Given the description of an element on the screen output the (x, y) to click on. 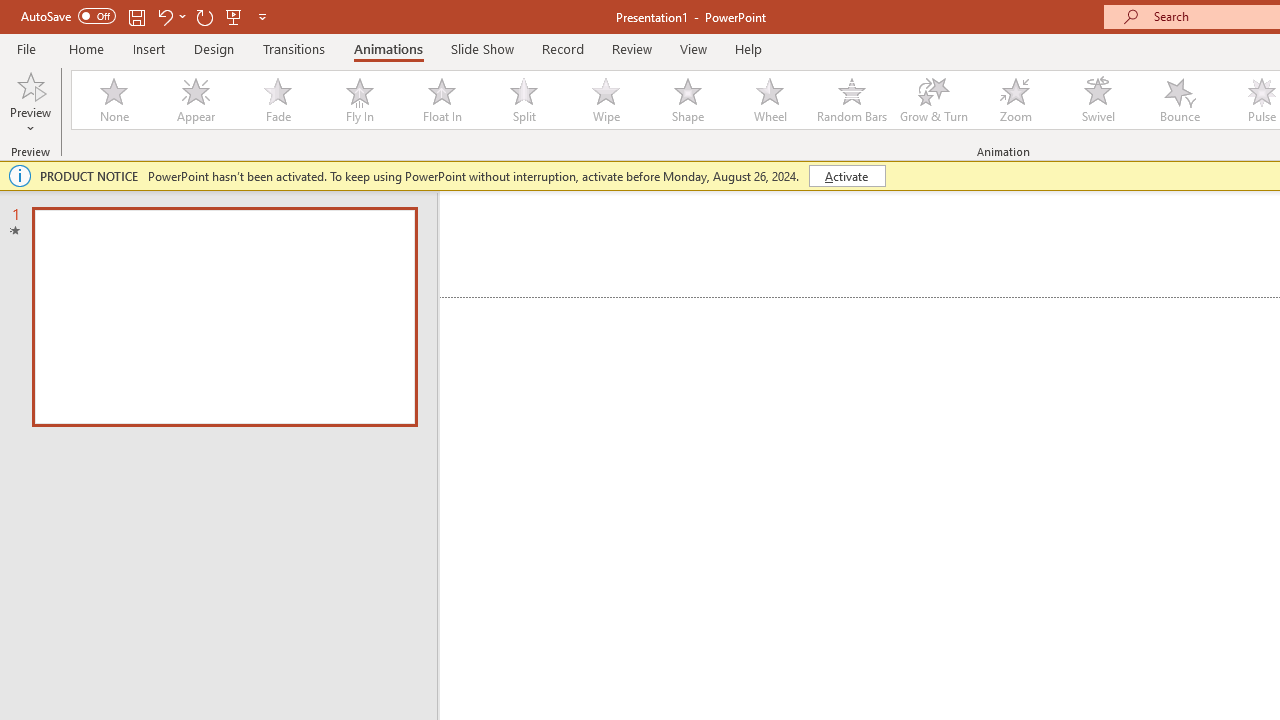
Fade (277, 100)
Split (523, 100)
Wheel (770, 100)
Appear (195, 100)
Grow & Turn (934, 100)
